Given the description of an element on the screen output the (x, y) to click on. 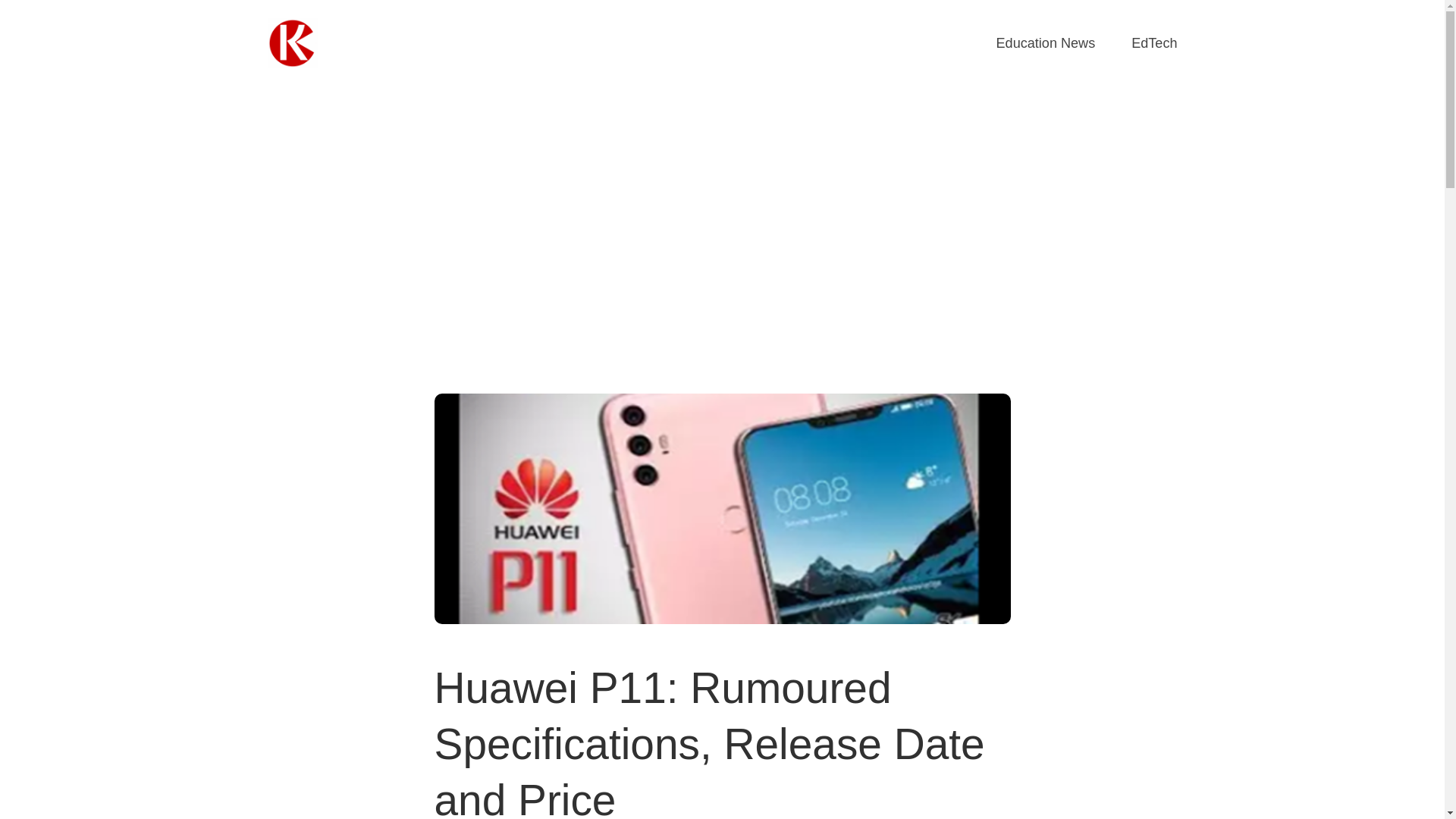
EdTech (1153, 43)
Education News (1045, 43)
